Given the description of an element on the screen output the (x, y) to click on. 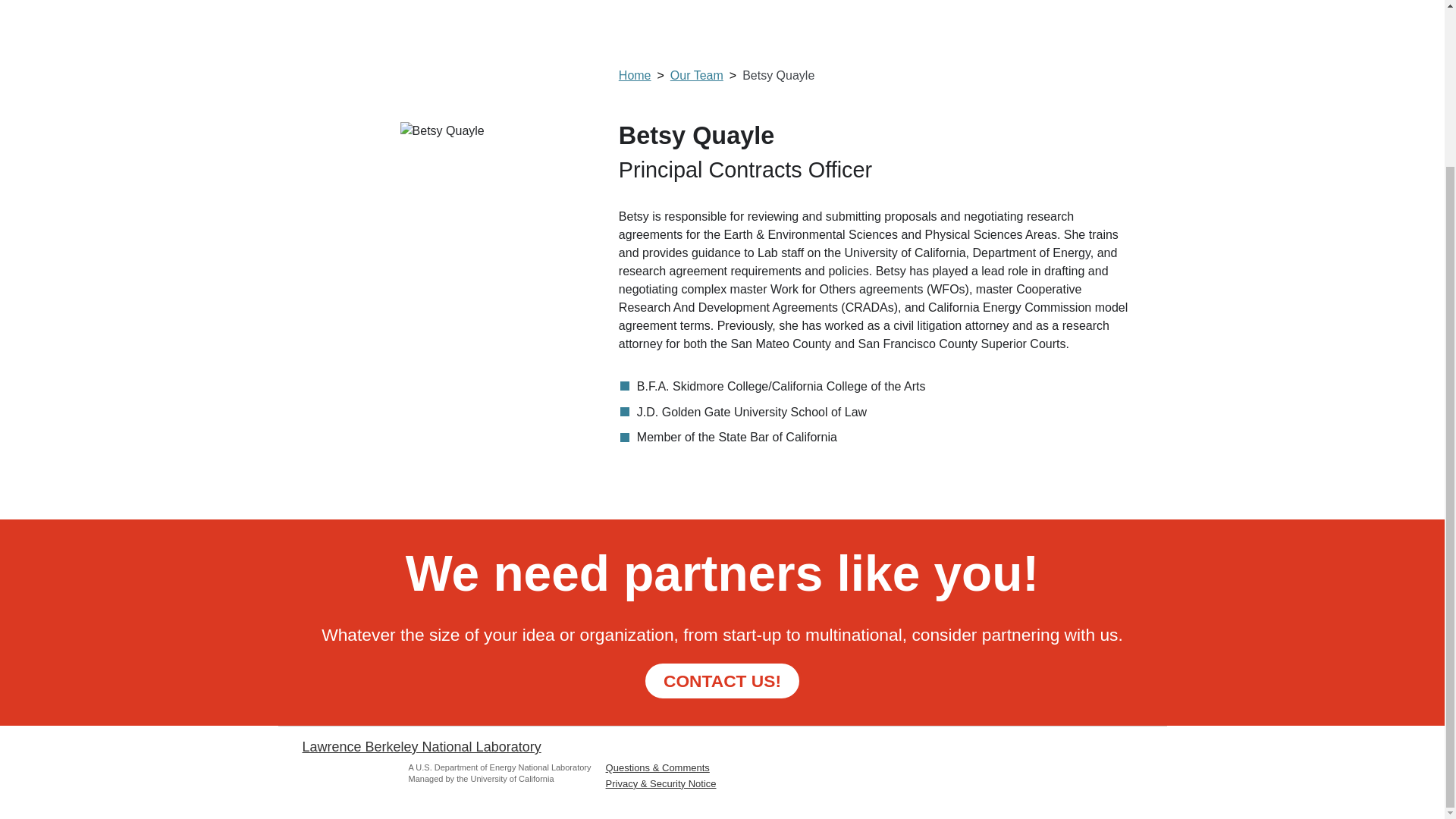
CONTACT US! (722, 680)
Our Team (705, 74)
Lawrence Berkeley National Laboratory (420, 746)
Home (643, 74)
